Given the description of an element on the screen output the (x, y) to click on. 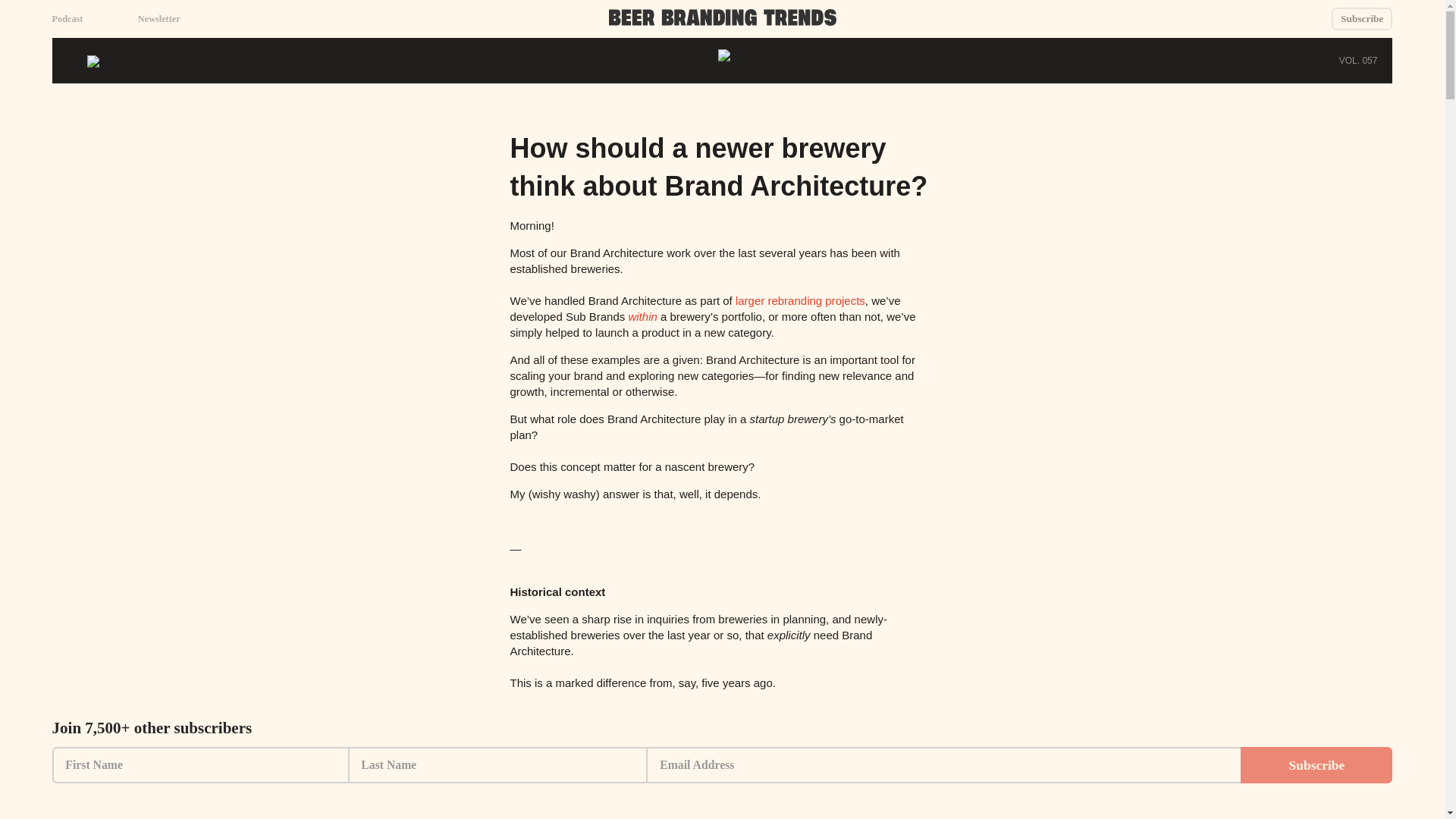
larger rebranding projects (799, 300)
Newsletter (159, 19)
Subscribe (1315, 764)
within (641, 316)
Podcast (67, 19)
Branded House (794, 789)
Subscribe (1315, 764)
Subscribe (1361, 18)
Subscribe (1361, 18)
